Given the description of an element on the screen output the (x, y) to click on. 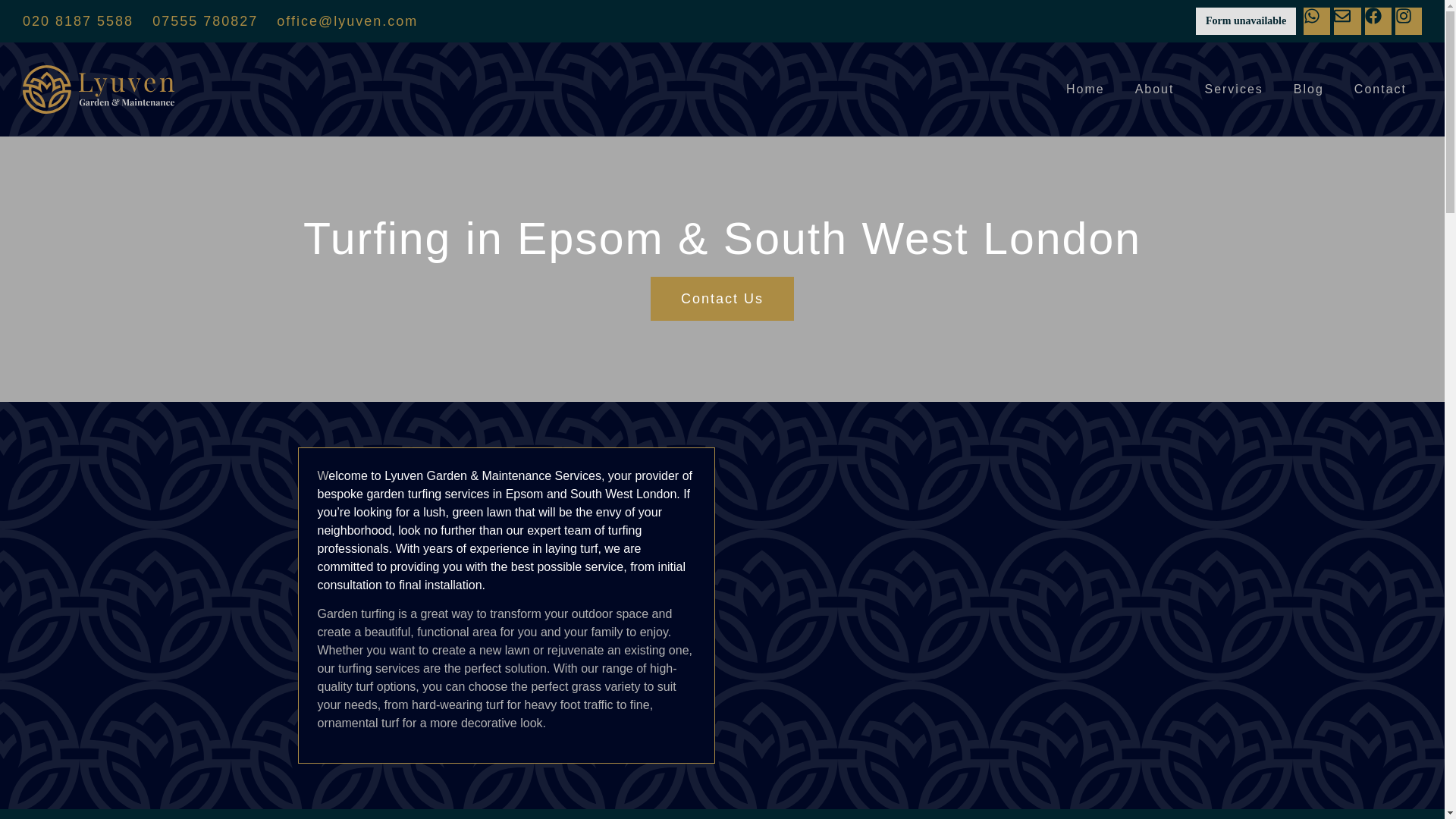
Blog (1308, 89)
Contact Us (721, 298)
020 8187 5588 (78, 20)
07555 780827 (204, 20)
Services (1233, 89)
About (1154, 89)
Form unavailable (1245, 21)
Contact (1380, 89)
Home (1085, 89)
